Given the description of an element on the screen output the (x, y) to click on. 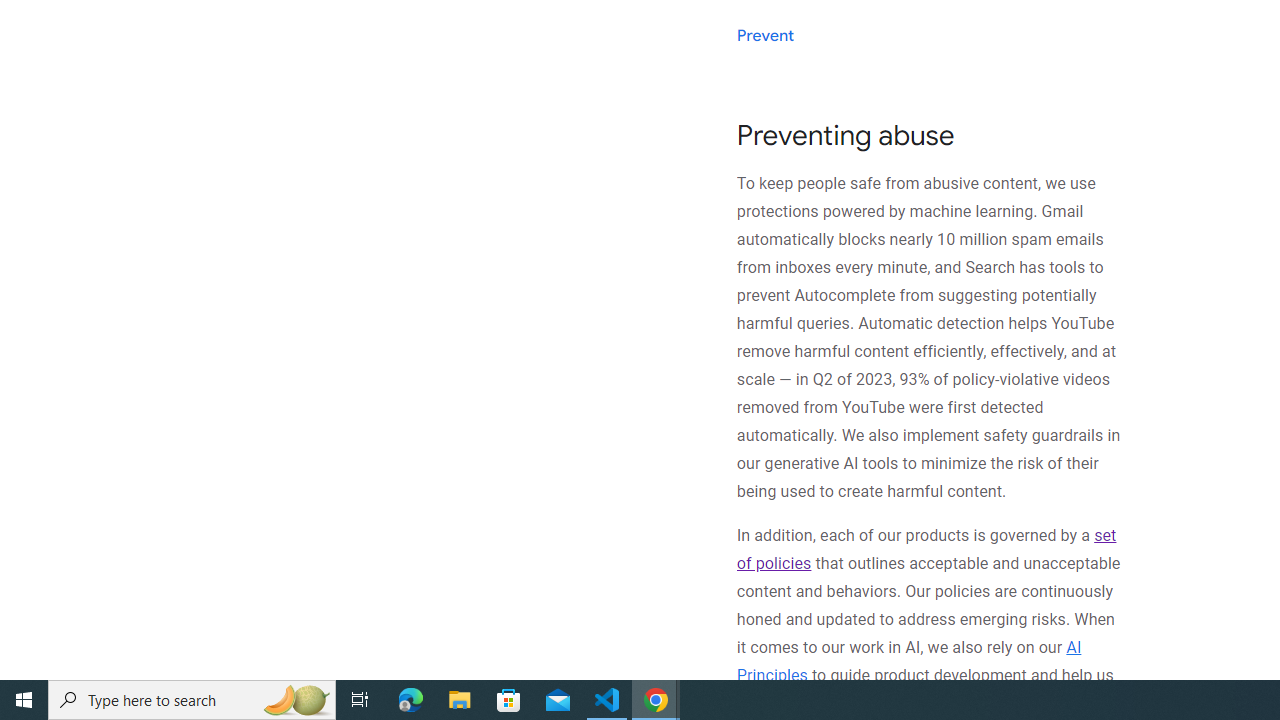
set of policies (926, 549)
AI Principles (908, 660)
